Given the description of an element on the screen output the (x, y) to click on. 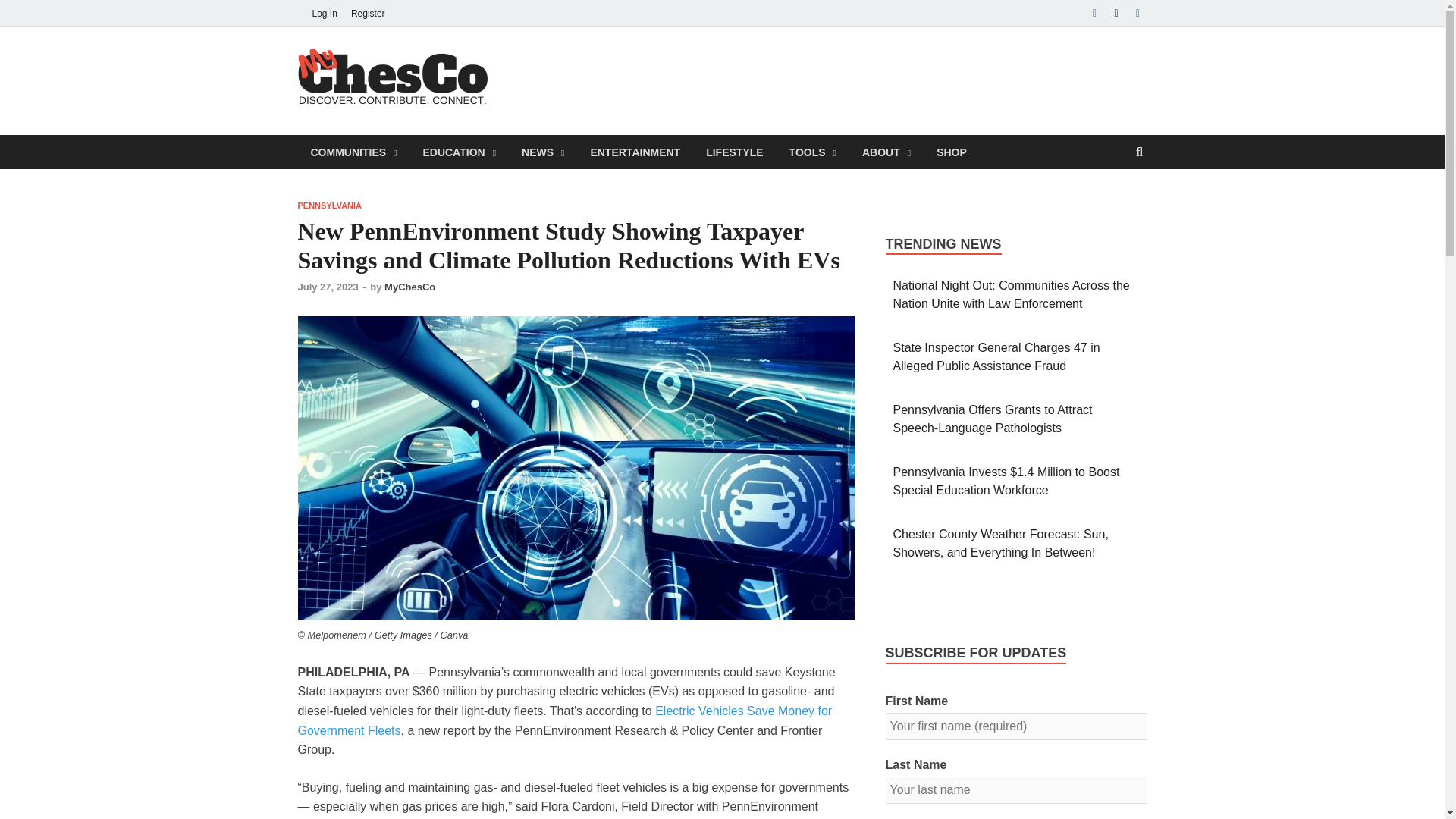
COMMUNITIES (353, 151)
MyChesCo (569, 77)
EDUCATION (458, 151)
Log In (323, 13)
Register (367, 13)
MyChesCo Store (951, 151)
